Given the description of an element on the screen output the (x, y) to click on. 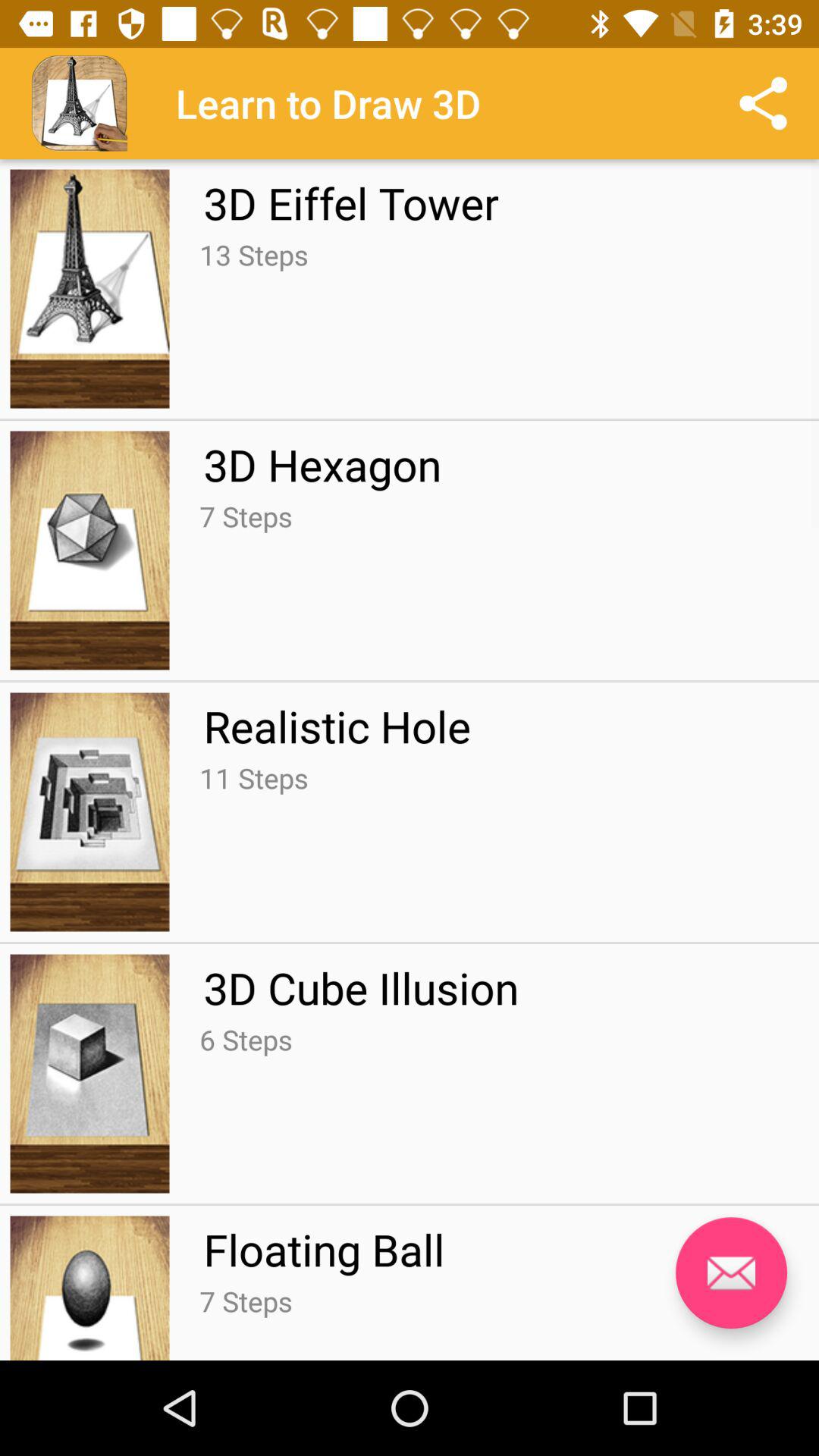
flip until 3d eiffel tower (350, 202)
